Given the description of an element on the screen output the (x, y) to click on. 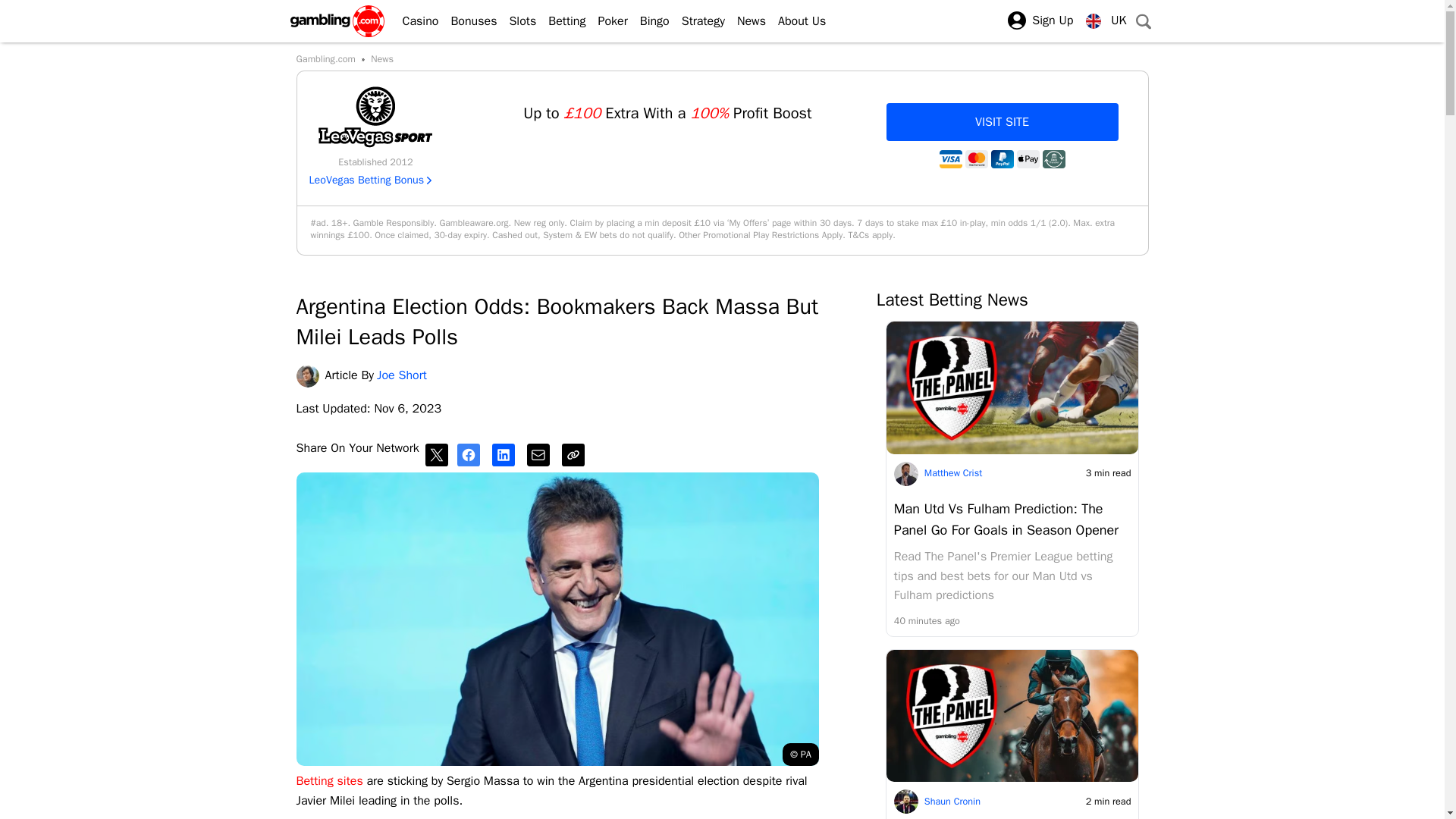
Bonuses (467, 21)
VISA (949, 158)
Joe Short (309, 375)
MasterCard (975, 158)
LeoVegas Sports (375, 116)
Copy URL (576, 454)
Casino (414, 21)
PayPal (1001, 158)
Apple Pay (1027, 158)
